Given the description of an element on the screen output the (x, y) to click on. 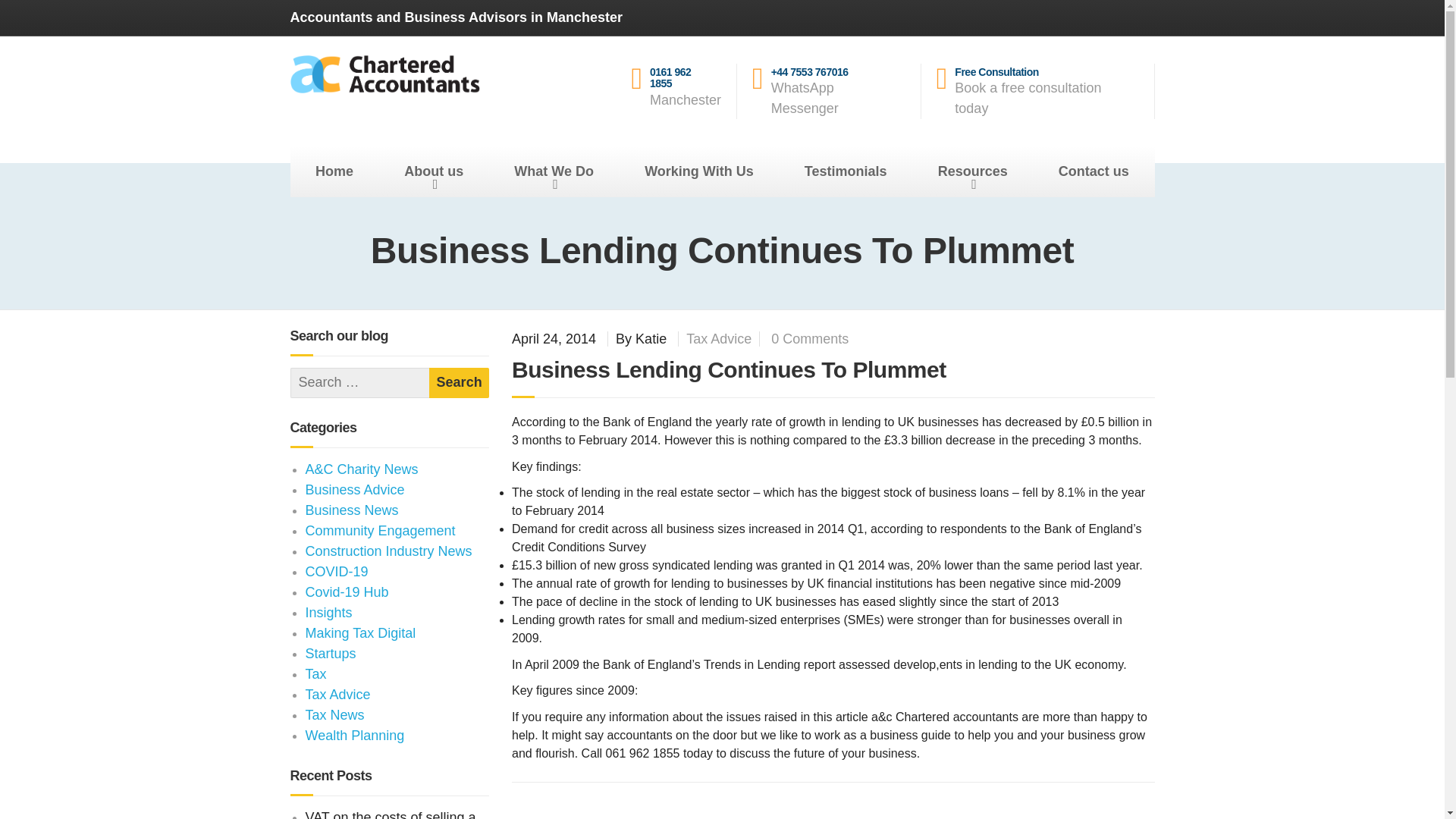
Working With Us (699, 171)
COVID-19 (683, 90)
Testimonials (336, 571)
Search (845, 171)
What We Do (459, 382)
Tax (554, 171)
Contact us (315, 673)
Business News (1093, 171)
Tax Advice (350, 509)
Tax News (718, 338)
Covid-19 Hub (334, 714)
About us (346, 591)
Wealth Planning (433, 171)
